Given the description of an element on the screen output the (x, y) to click on. 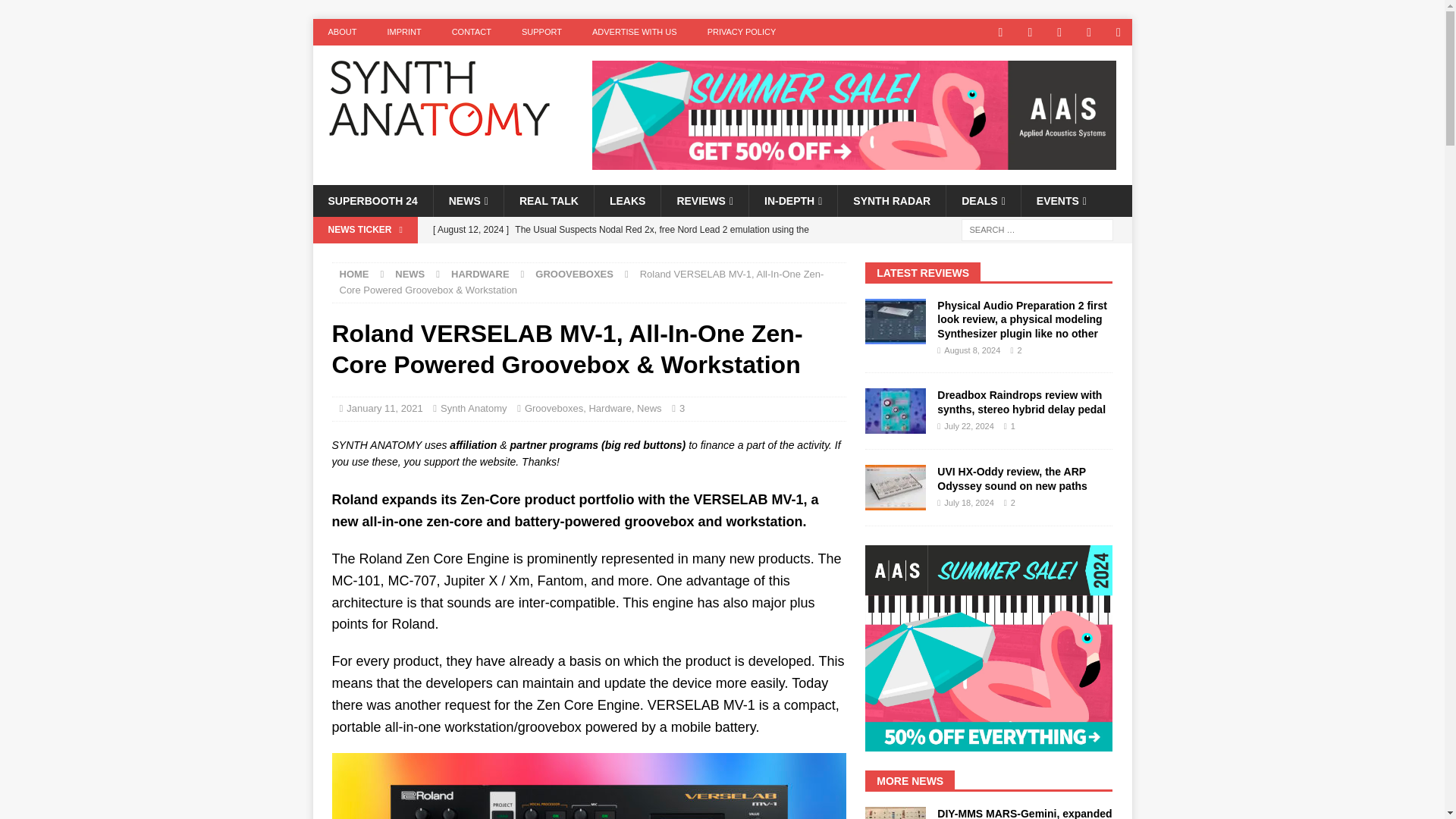
ADVERTISE WITH US (634, 31)
SUPPORT (541, 31)
IMPRINT (403, 31)
PRIVACY POLICY (742, 31)
ABOUT (342, 31)
CONTACT (471, 31)
